Given the description of an element on the screen output the (x, y) to click on. 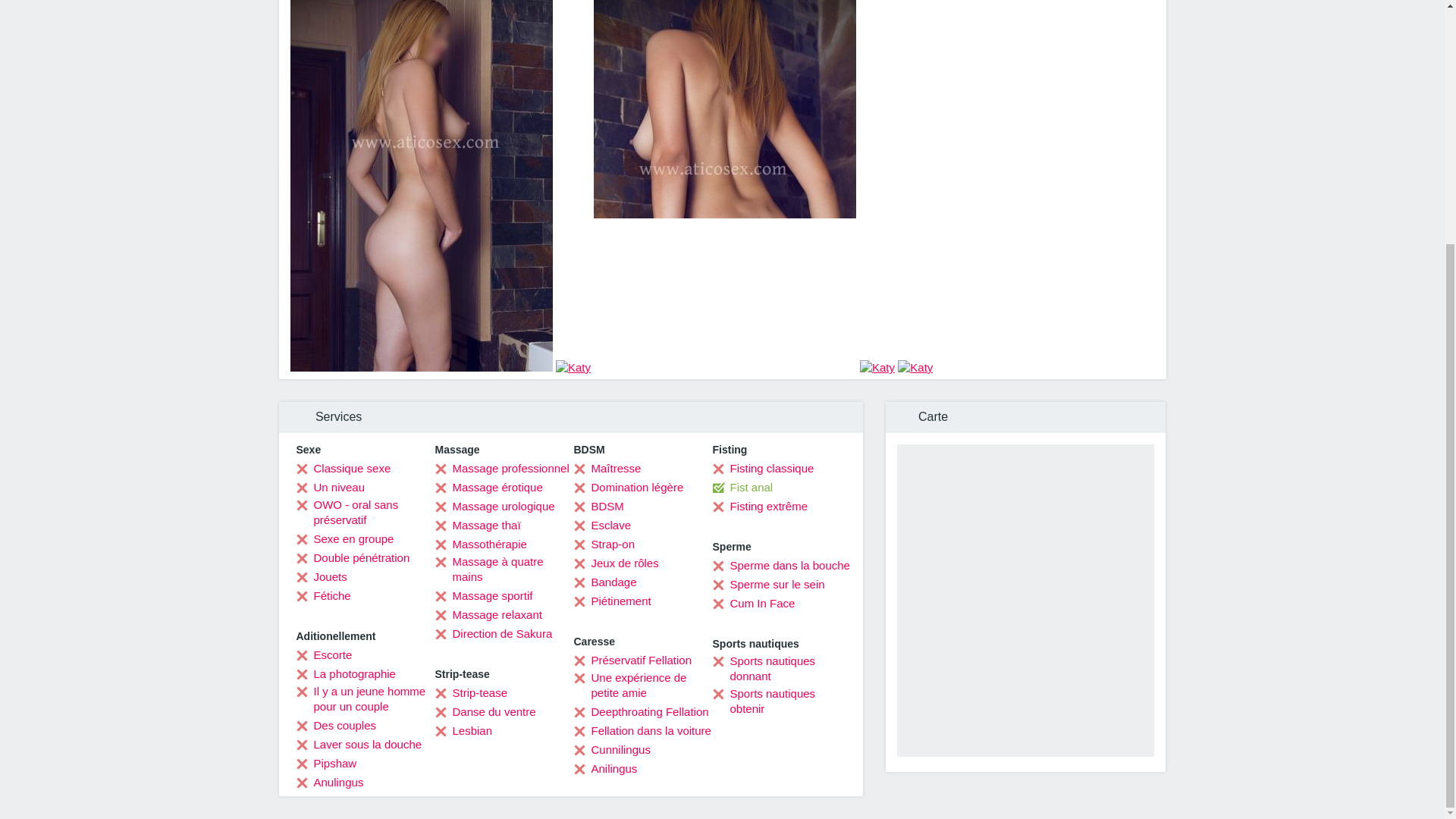
Il y a un jeune homme pour un couple (364, 698)
La photographie (344, 673)
Laver sous la douche (358, 744)
Massage professionnel (502, 468)
Escorte (323, 654)
Classique sexe (342, 468)
Pipshaw (325, 763)
Des couples (335, 725)
Anulingus (328, 782)
Jouets (320, 576)
